Given the description of an element on the screen output the (x, y) to click on. 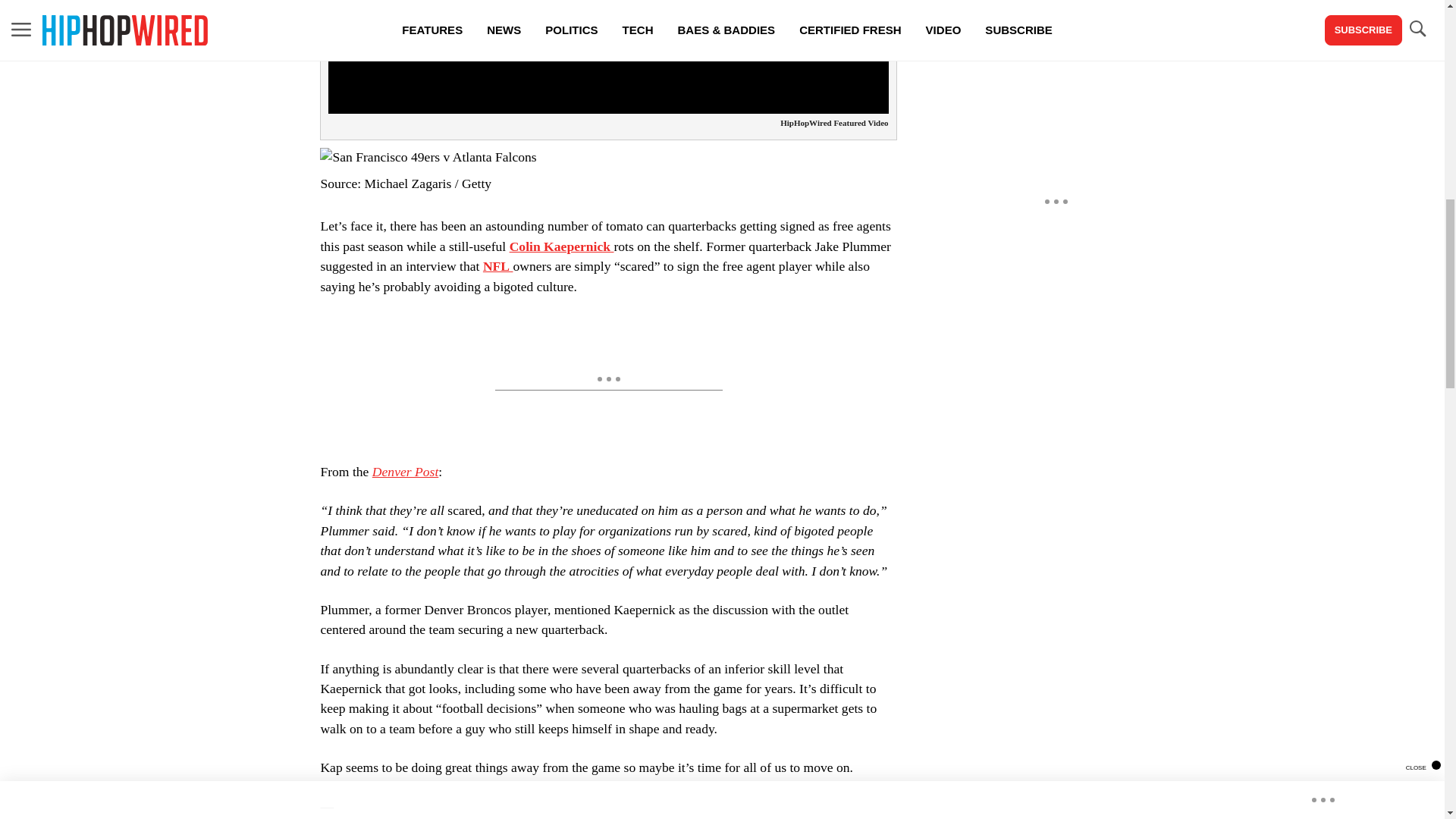
Denver Post (405, 471)
Colin Kaepernick (561, 246)
NFL (498, 265)
